Given the description of an element on the screen output the (x, y) to click on. 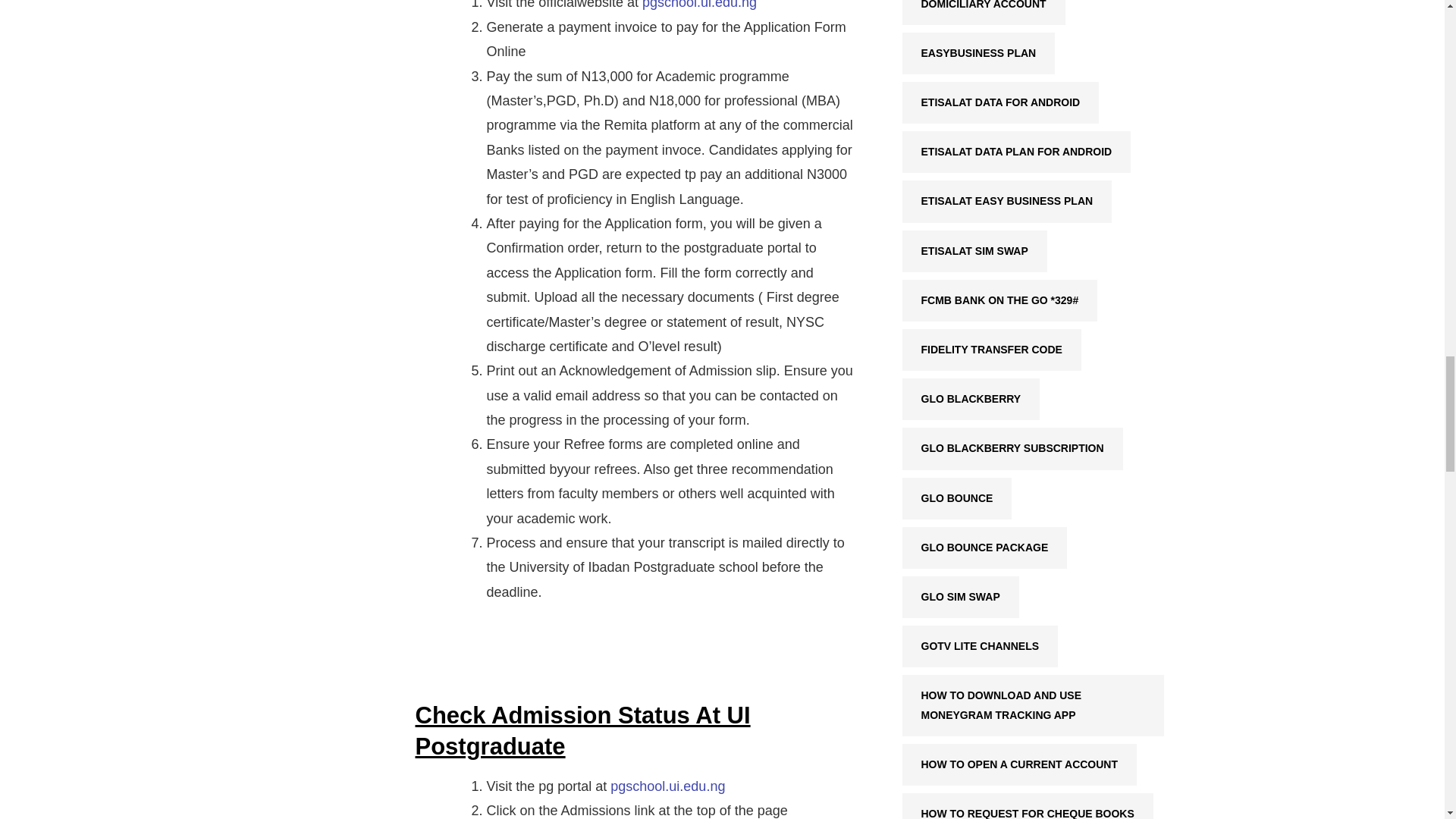
pgschool.ui.edu.ng (699, 4)
pgschool.ui.edu.ng (667, 785)
